Given the description of an element on the screen output the (x, y) to click on. 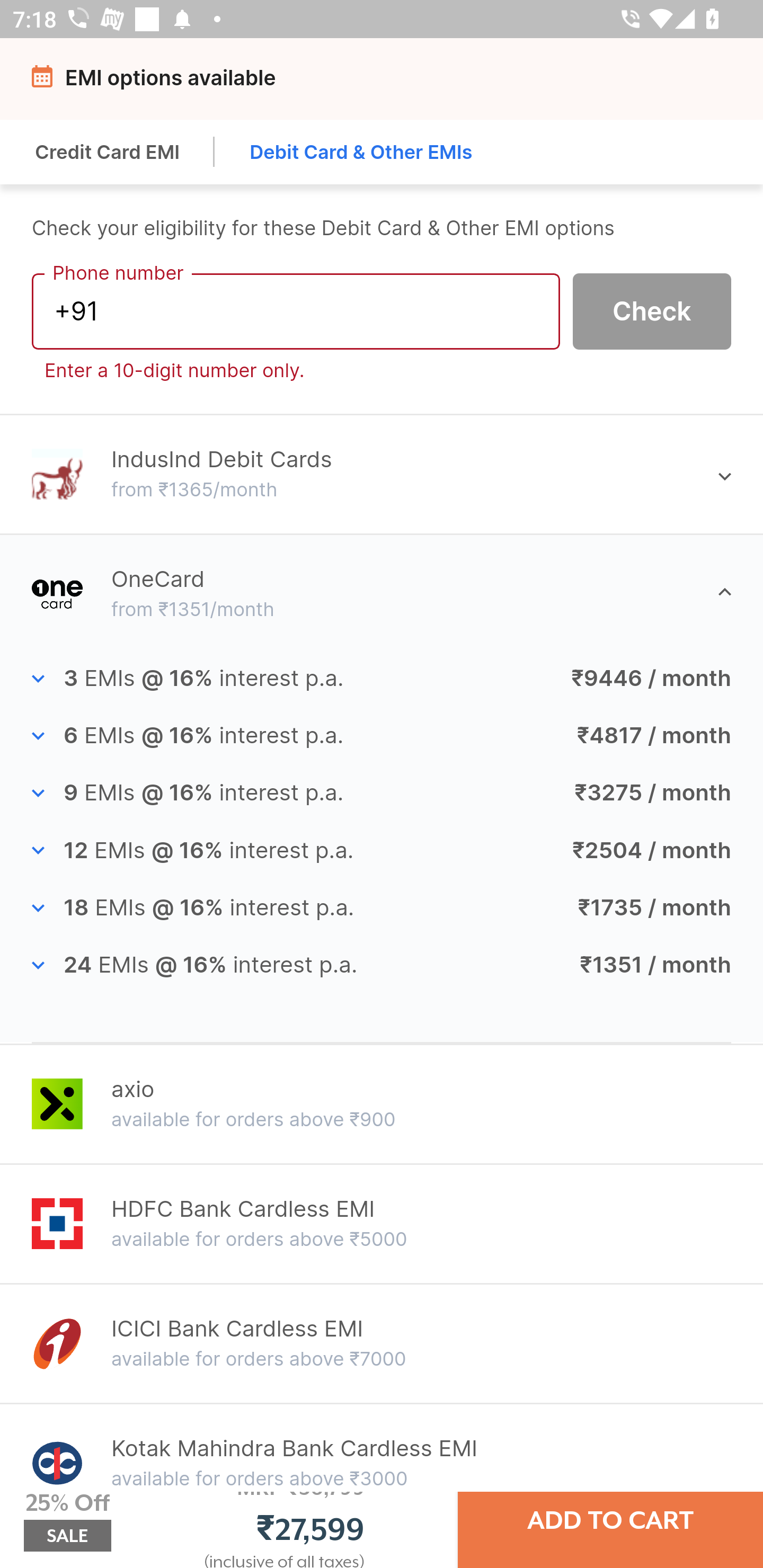
Navigate up (44, 82)
Credit Card EMI (107, 152)
Debit Card & Other EMIs (361, 152)
Check (651, 310)
OneCard OneCard from ₹1351/month (381, 593)
3 EMIs @ 16% interest p.a. ₹9446 / month (381, 678)
6 EMIs @ 16% interest p.a. ₹4817 / month (381, 735)
9 EMIs @ 16% interest p.a. ₹3275 / month (381, 793)
12 EMIs @ 16% interest p.a. ₹2504 / month (381, 850)
18 EMIs @ 16% interest p.a. ₹1735 / month (381, 908)
24 EMIs @ 16% interest p.a. ₹1351 / month (381, 964)
ADD TO CART (610, 1520)
